Given the description of an element on the screen output the (x, y) to click on. 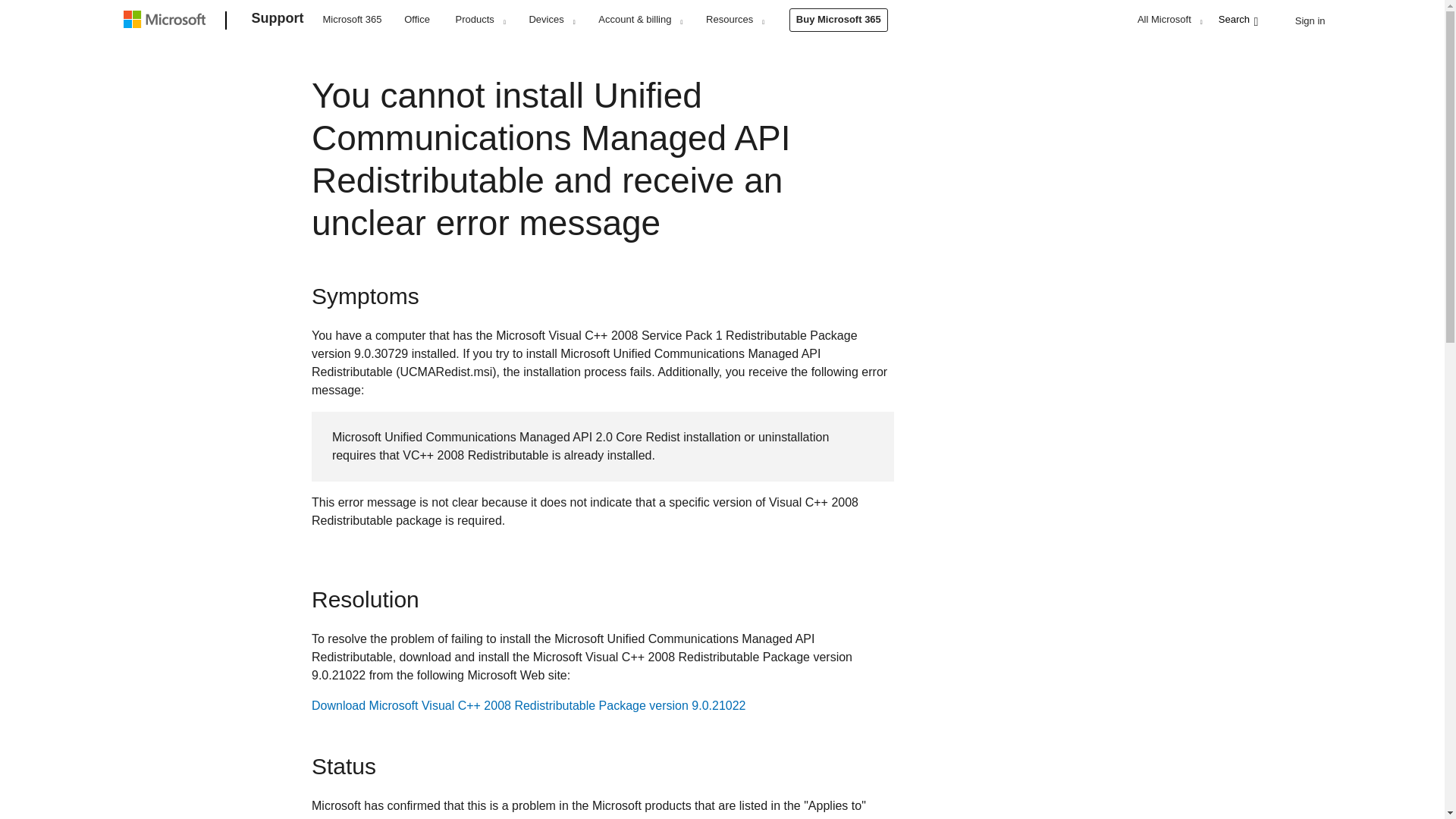
Microsoft 365 (351, 18)
Office (416, 18)
Resources (734, 18)
Microsoft (167, 20)
Products (480, 18)
Support (277, 20)
Devices (550, 18)
